Given the description of an element on the screen output the (x, y) to click on. 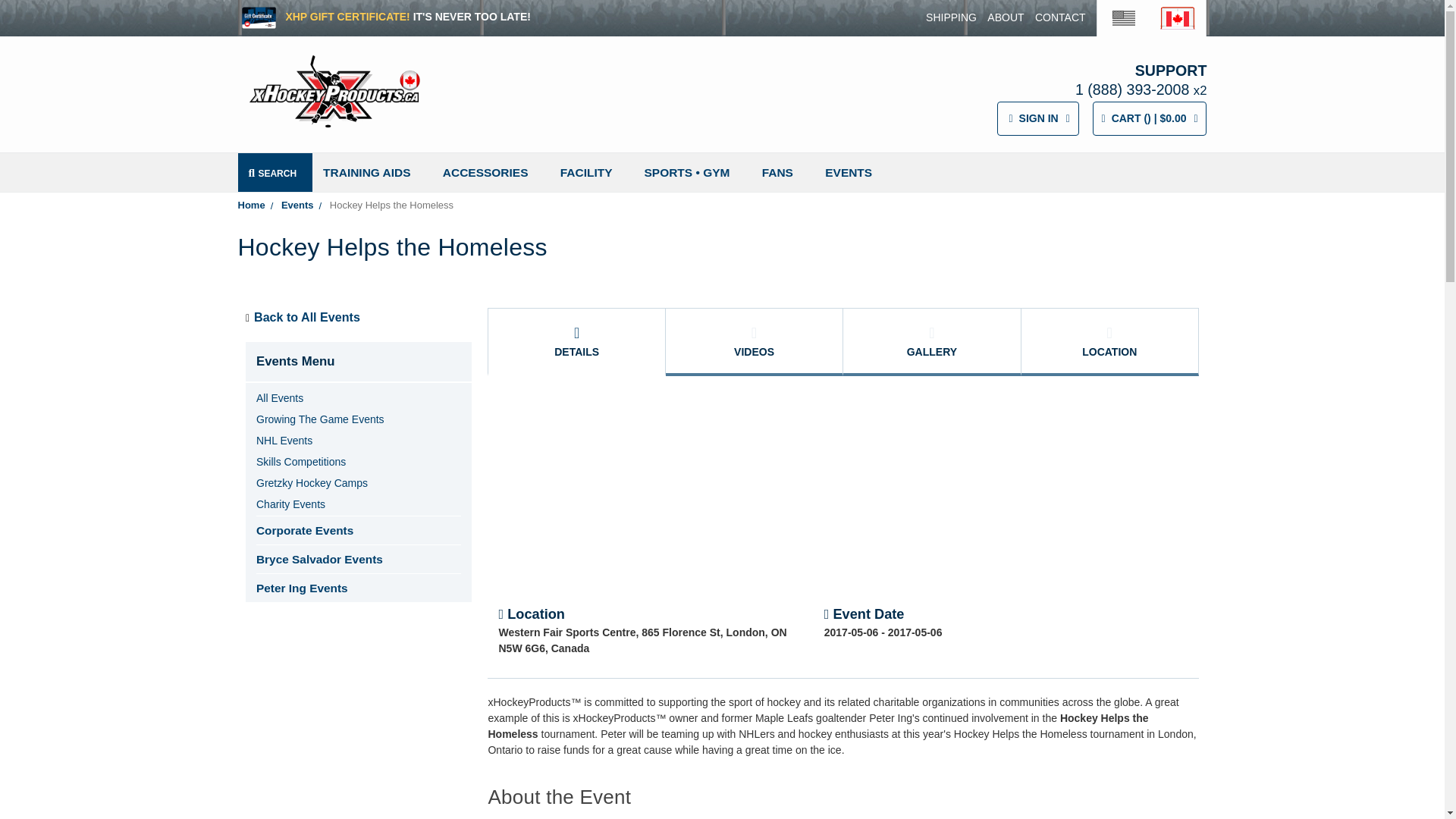
xhockeyproducts.com (1123, 15)
FACILITY (591, 172)
xhockeyproducts.ca (1179, 15)
All Events (279, 398)
SEARCH (275, 172)
NHL Events (284, 440)
Help (1060, 17)
SHIPPING (951, 17)
Skills Competitions (301, 461)
Help (951, 17)
